Given the description of an element on the screen output the (x, y) to click on. 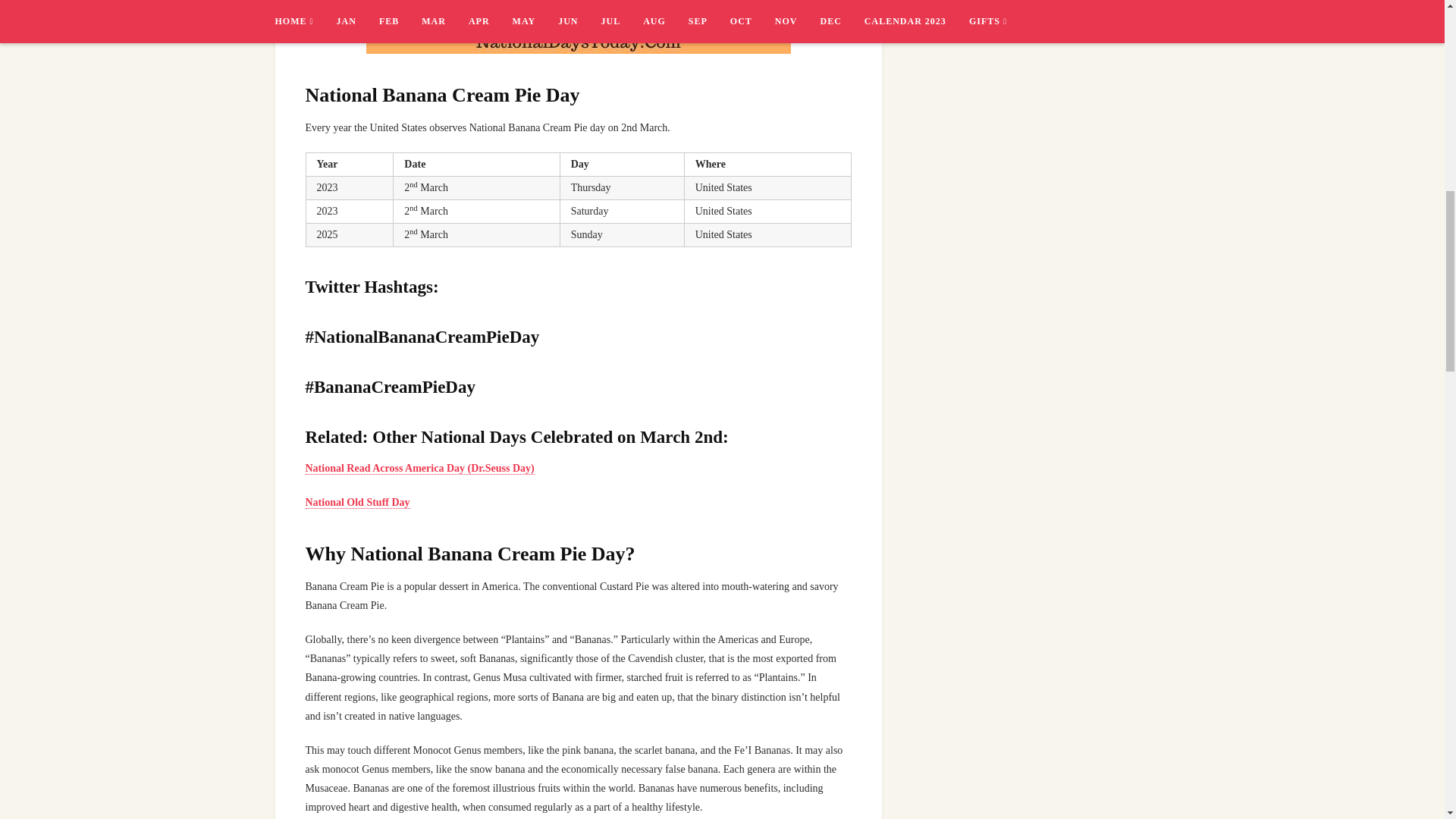
National Old Stuff Day (356, 502)
